Given the description of an element on the screen output the (x, y) to click on. 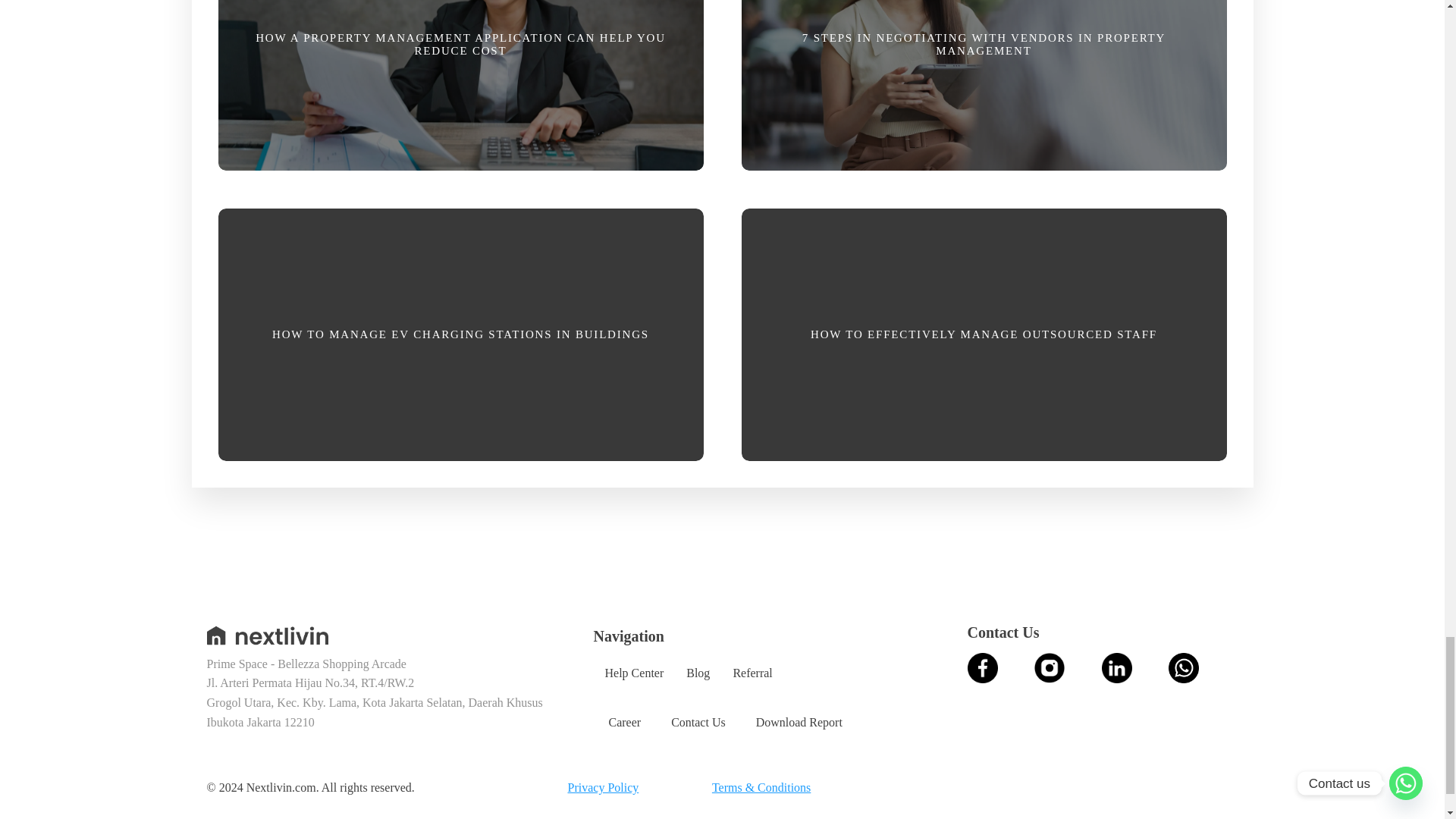
Blog (697, 673)
Referral (751, 673)
Contact Us (698, 722)
Privacy Policy (603, 787)
Help Center (633, 673)
Career (624, 722)
7 STEPS IN NEGOTIATING WITH VENDORS IN PROPERTY MANAGEMENT (983, 90)
Download Report (799, 722)
